Given the description of an element on the screen output the (x, y) to click on. 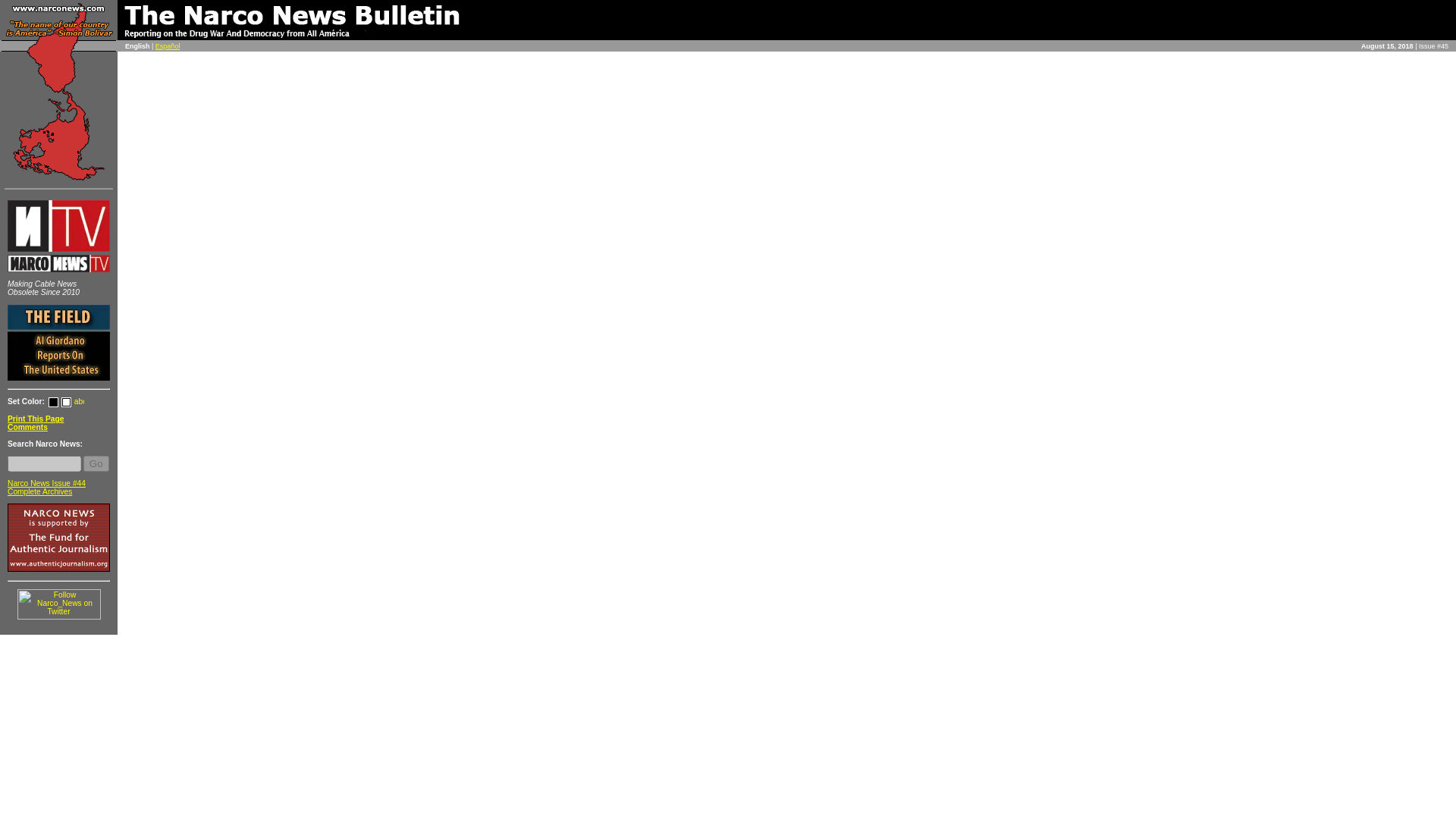
Complete Archives (39, 491)
Go (95, 463)
Comments (27, 427)
Go (95, 463)
Print This Page (35, 418)
